Given the description of an element on the screen output the (x, y) to click on. 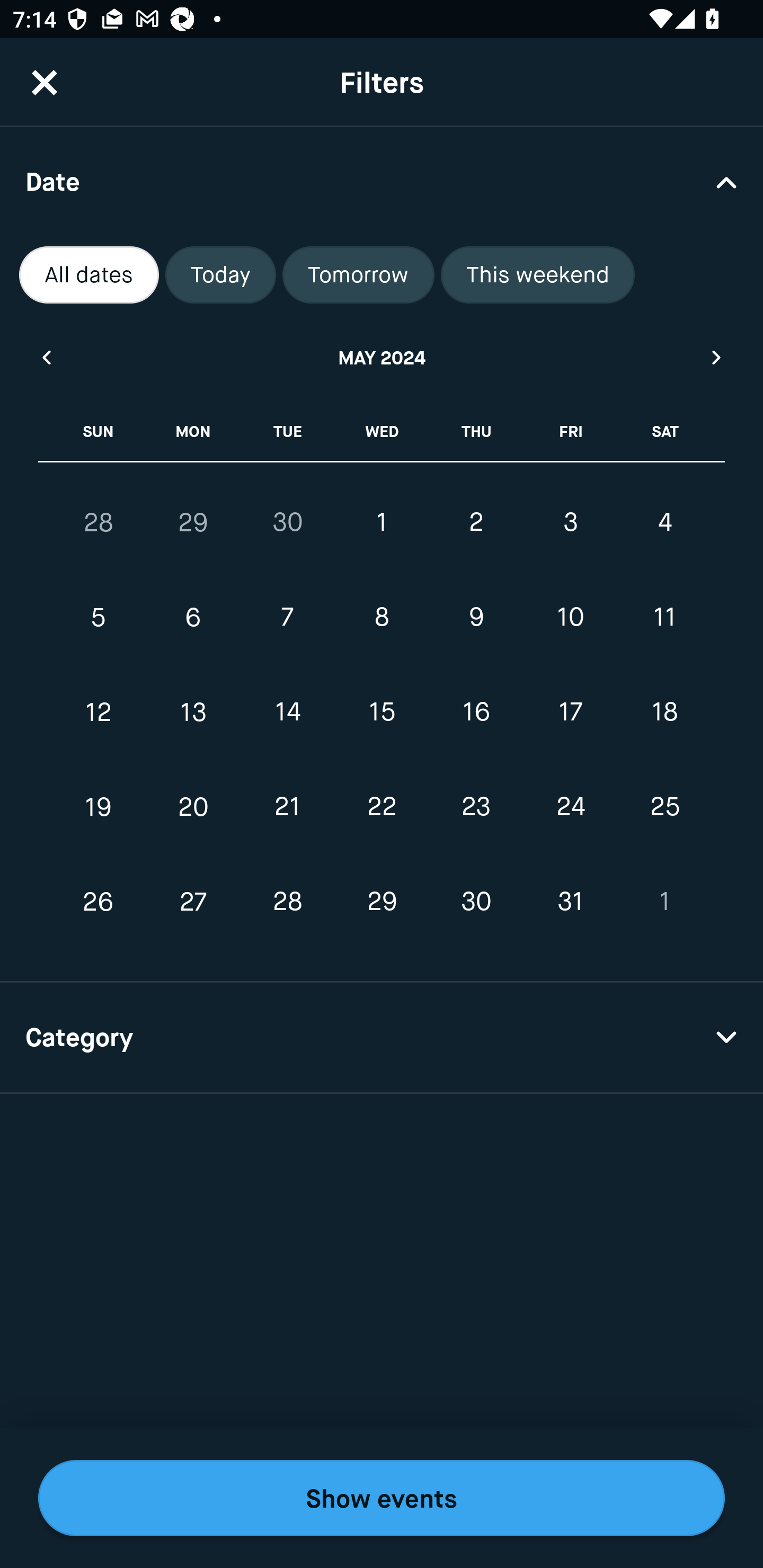
CloseButton (44, 82)
Date Drop Down Arrow (381, 181)
All dates (88, 274)
Today (220, 274)
Tomorrow (358, 274)
This weekend (537, 274)
Previous (45, 357)
Next (717, 357)
28 (98, 522)
29 (192, 522)
30 (287, 522)
1 (381, 522)
2 (475, 522)
3 (570, 522)
4 (664, 522)
5 (98, 617)
6 (192, 617)
7 (287, 617)
8 (381, 617)
9 (475, 617)
10 (570, 617)
11 (664, 617)
12 (98, 711)
13 (192, 711)
14 (287, 711)
15 (381, 711)
16 (475, 711)
17 (570, 711)
18 (664, 711)
19 (98, 806)
20 (192, 806)
21 (287, 806)
22 (381, 806)
23 (475, 806)
24 (570, 806)
25 (664, 806)
26 (98, 901)
27 (192, 901)
28 (287, 901)
29 (381, 901)
30 (475, 901)
31 (570, 901)
1 (664, 901)
Category Drop Down Arrow (381, 1038)
Show events (381, 1497)
